Given the description of an element on the screen output the (x, y) to click on. 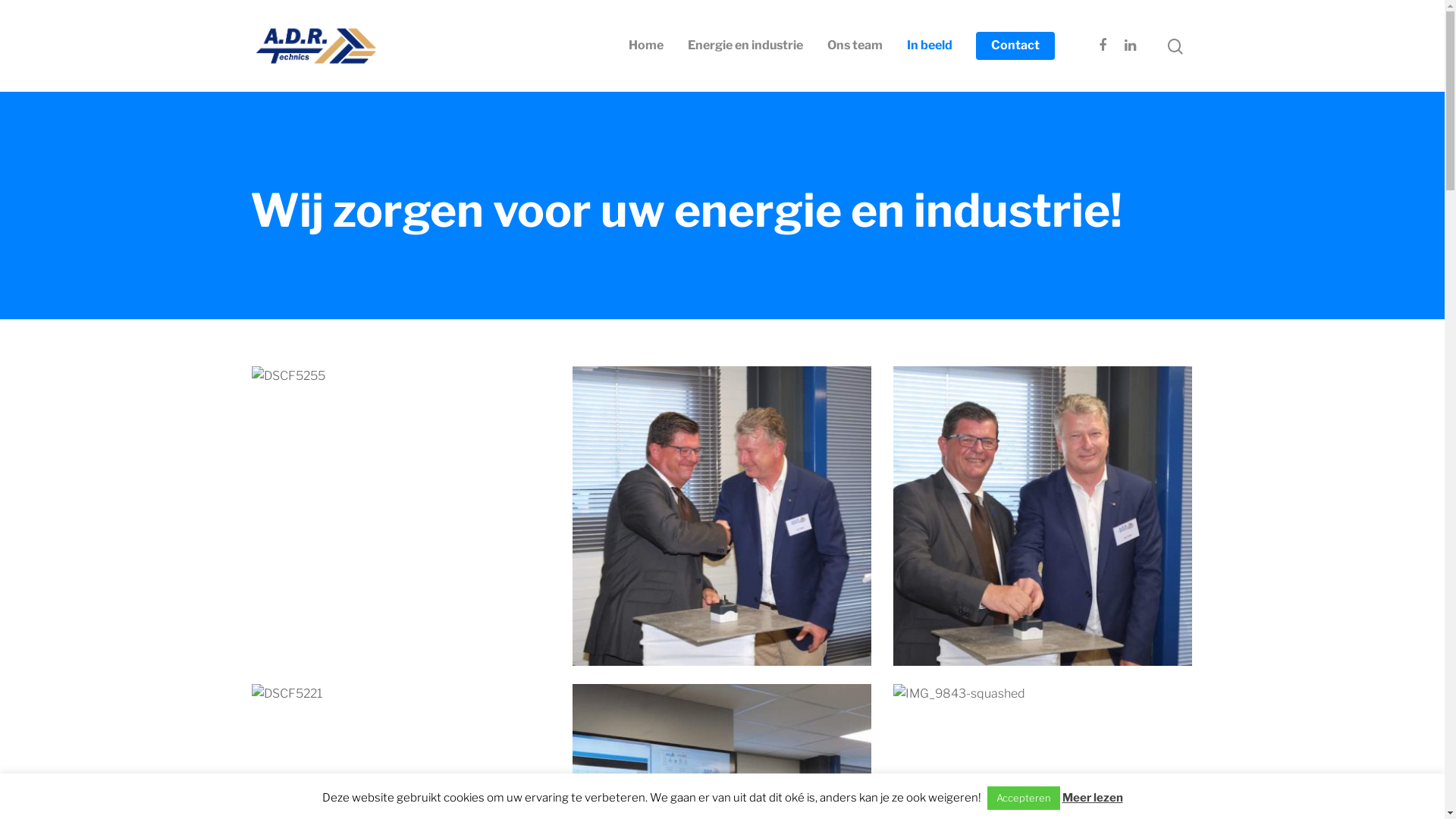
Home Element type: text (645, 45)
DSCF5259 Element type: hover (1042, 515)
Energie en industrie Element type: text (745, 45)
In beeld Element type: text (929, 45)
Accepteren Element type: text (1023, 797)
Meer lezen Element type: text (1091, 797)
DSCF5255 Element type: hover (400, 515)
Ons team Element type: text (854, 45)
Contact Element type: text (1014, 45)
DSCF5257 Element type: hover (721, 515)
